Given the description of an element on the screen output the (x, y) to click on. 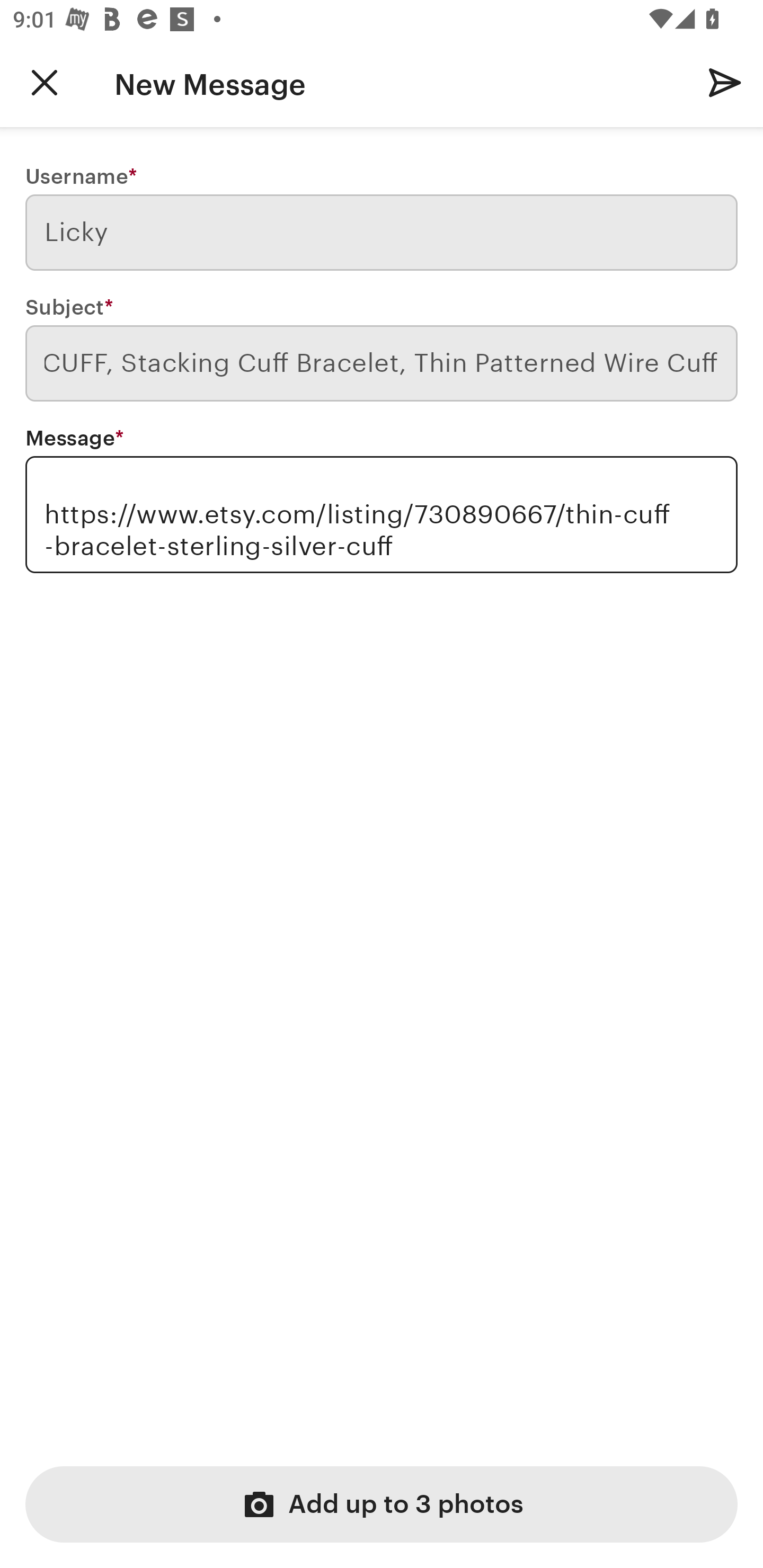
Navigate up (44, 81)
Licky (381, 232)
See full shipping policy (135, 444)
